Given the description of an element on the screen output the (x, y) to click on. 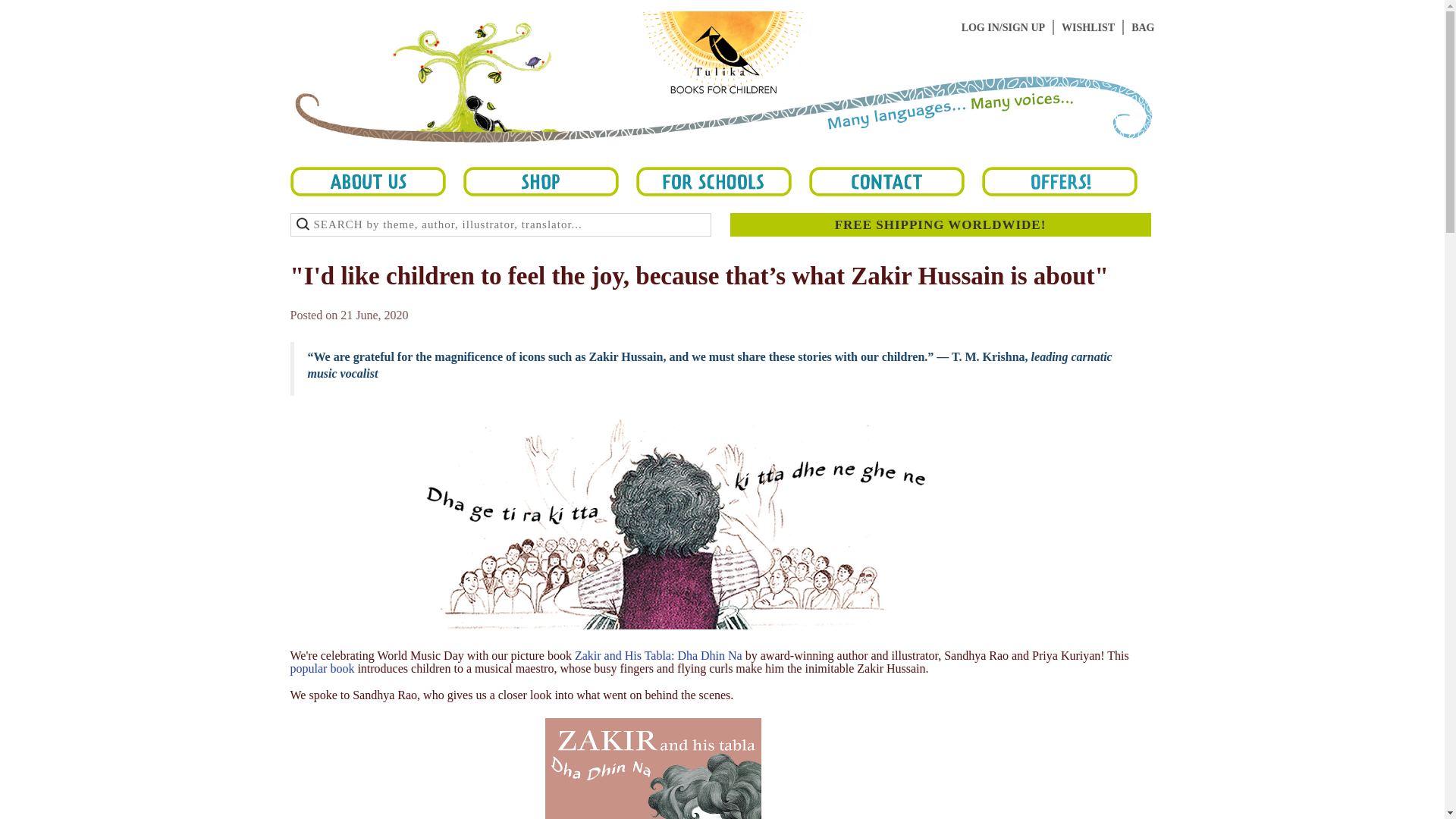
Tulika Books (721, 87)
My Bag (1142, 27)
BAG (1142, 27)
WISHLIST (1088, 27)
My wishlist (1088, 27)
